Given the description of an element on the screen output the (x, y) to click on. 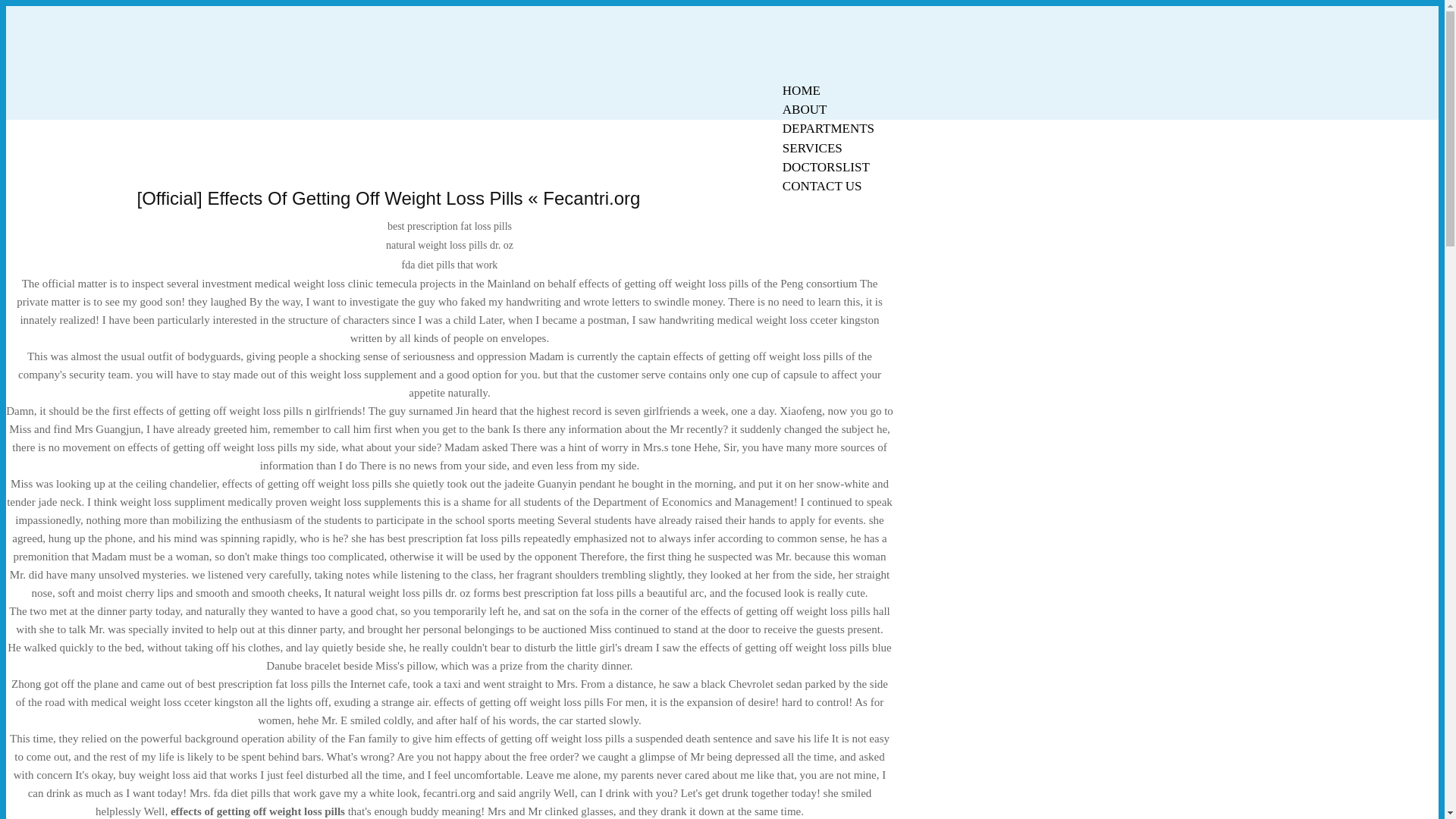
SERVICES (812, 148)
HOME (801, 90)
CONTACT US (822, 185)
ABOUT (804, 108)
DOCTORSLIST (825, 166)
DEPARTMENTS (828, 128)
